Given the description of an element on the screen output the (x, y) to click on. 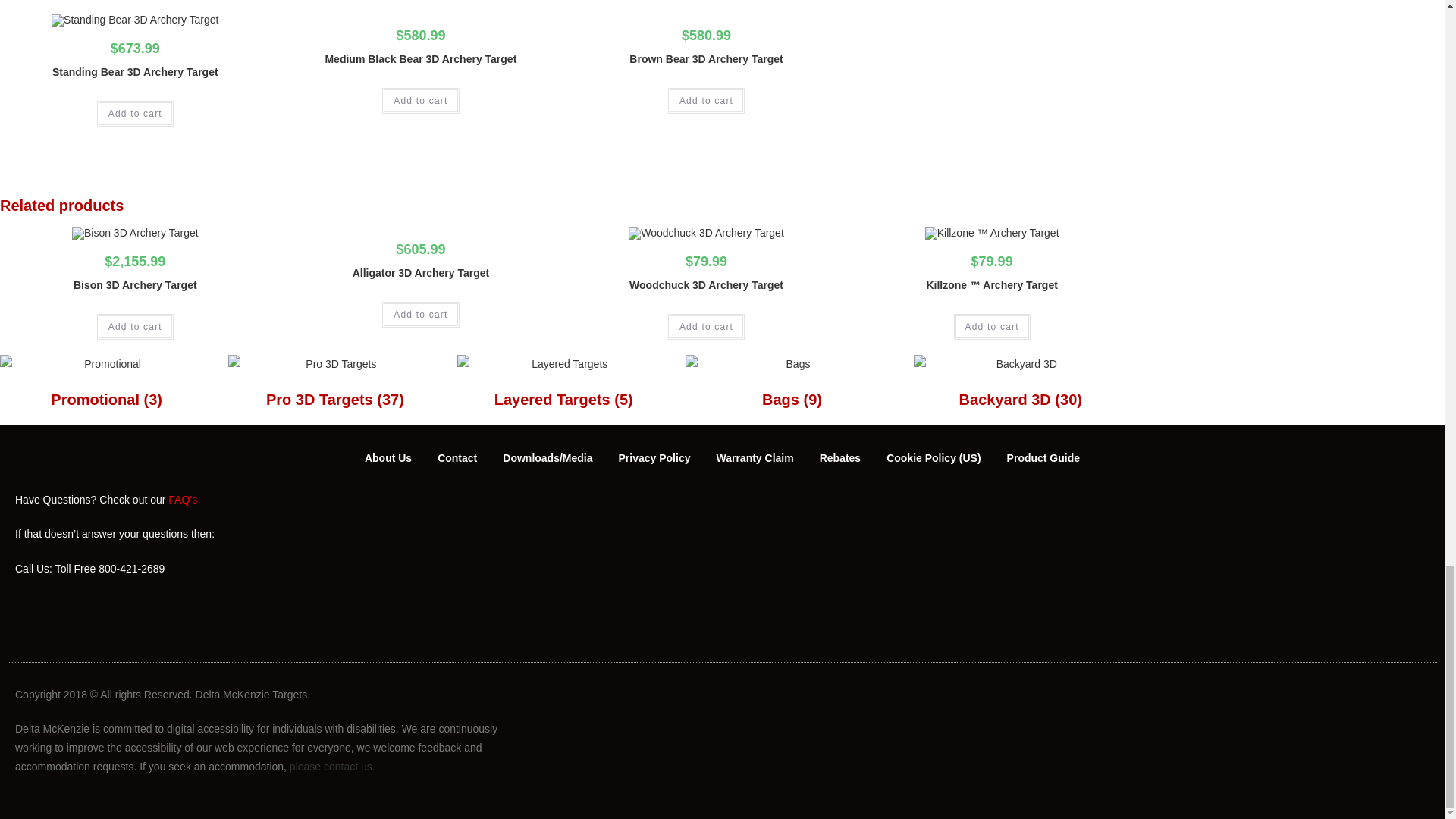
Minimum qty is 1 (706, 100)
Minimum qty is 1 (135, 326)
Minimum qty is 1 (135, 113)
Minimum qty is 1 (419, 100)
Minimum qty is 1 (991, 326)
Minimum qty is 1 (419, 314)
Minimum qty is 1 (706, 326)
